Given the description of an element on the screen output the (x, y) to click on. 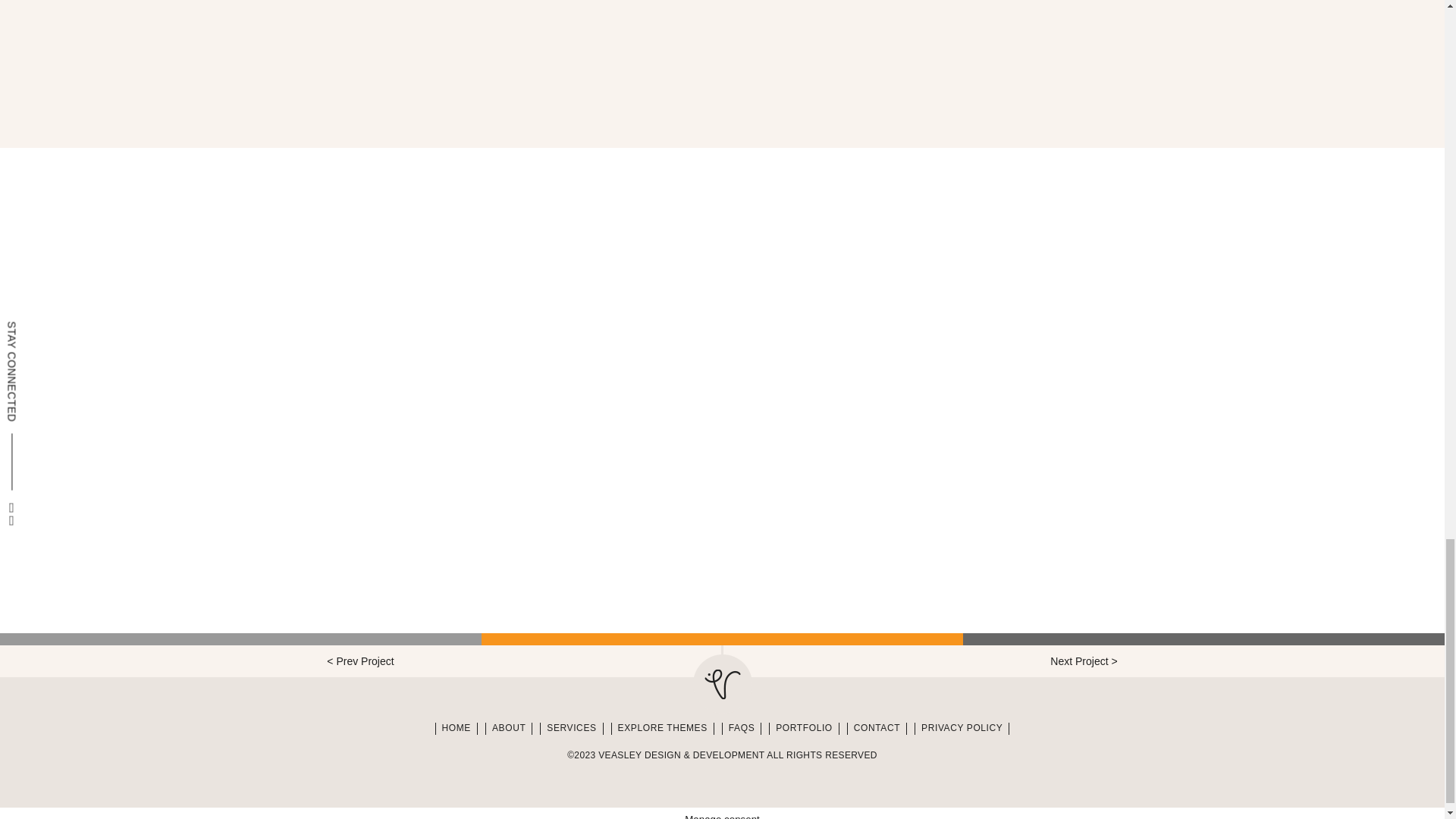
SERVICES (571, 728)
PRIVACY POLICY (962, 728)
FAQS (741, 728)
HOME (456, 728)
ABOUT (508, 728)
EXPLORE THEMES (662, 728)
CONTACT (876, 728)
PORTFOLIO (804, 728)
